Given the description of an element on the screen output the (x, y) to click on. 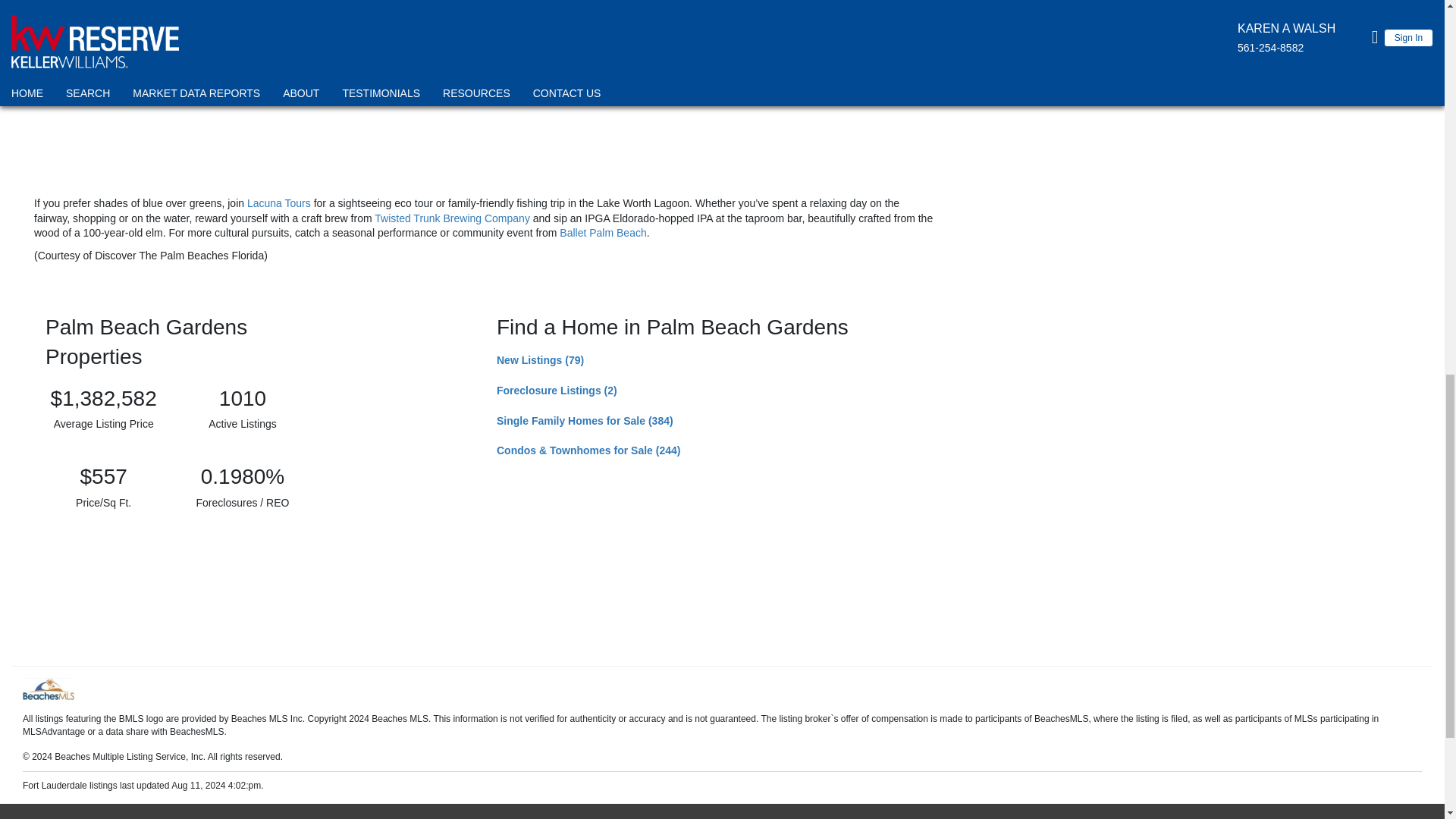
Lacuna Tours (279, 203)
Twisted Trunk Brewing Company (451, 218)
Ballet Palm Beach (602, 232)
